Given the description of an element on the screen output the (x, y) to click on. 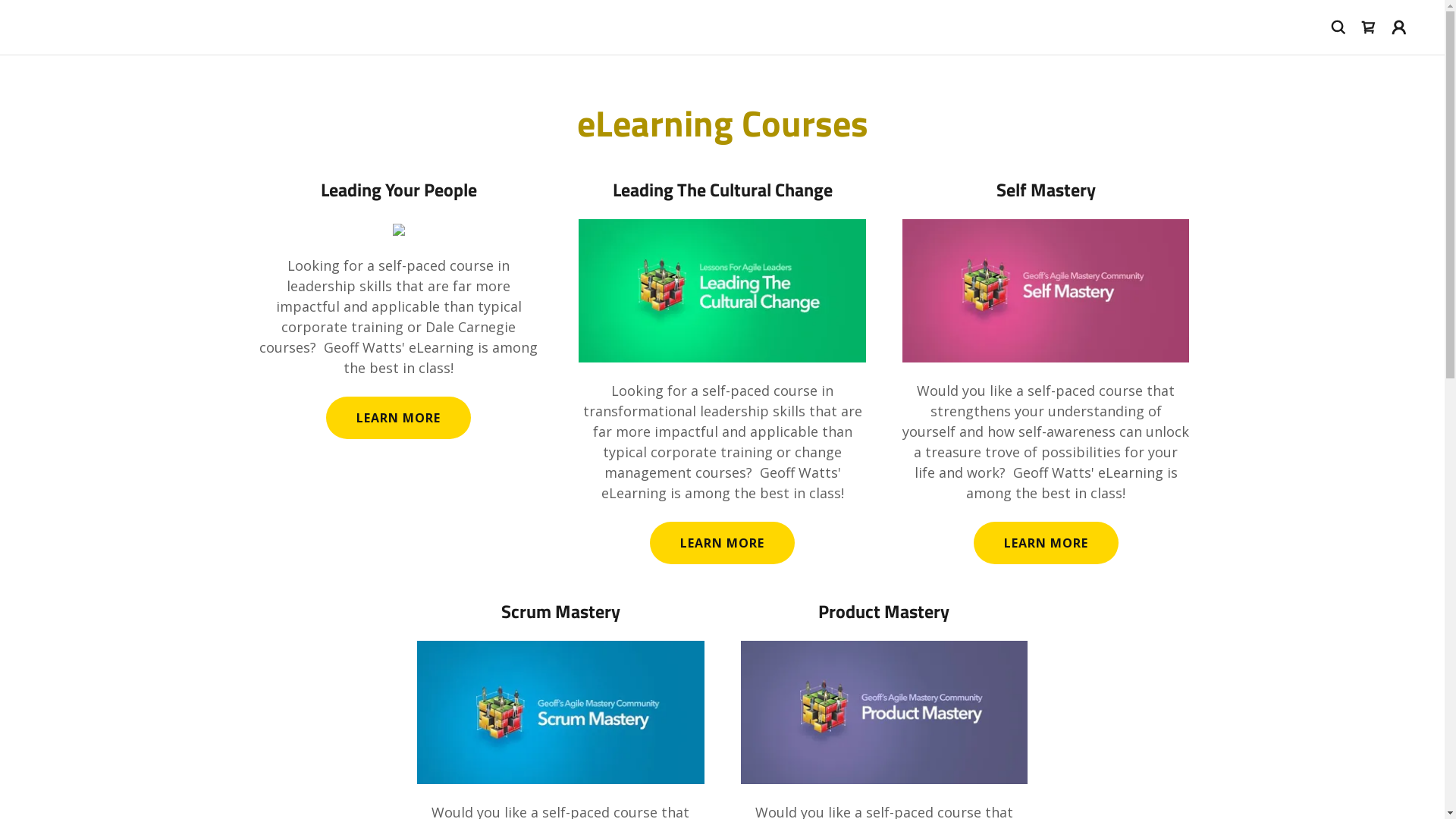
LEARN MORE Element type: text (721, 542)
LEARN MORE Element type: text (398, 417)
LEARN MORE Element type: text (1045, 542)
